Given the description of an element on the screen output the (x, y) to click on. 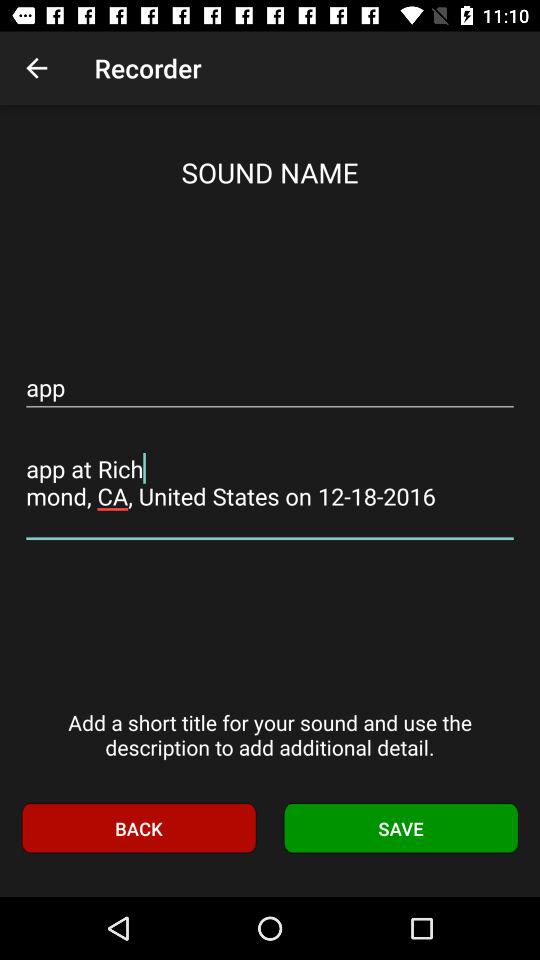
press icon at the bottom left corner (138, 828)
